Given the description of an element on the screen output the (x, y) to click on. 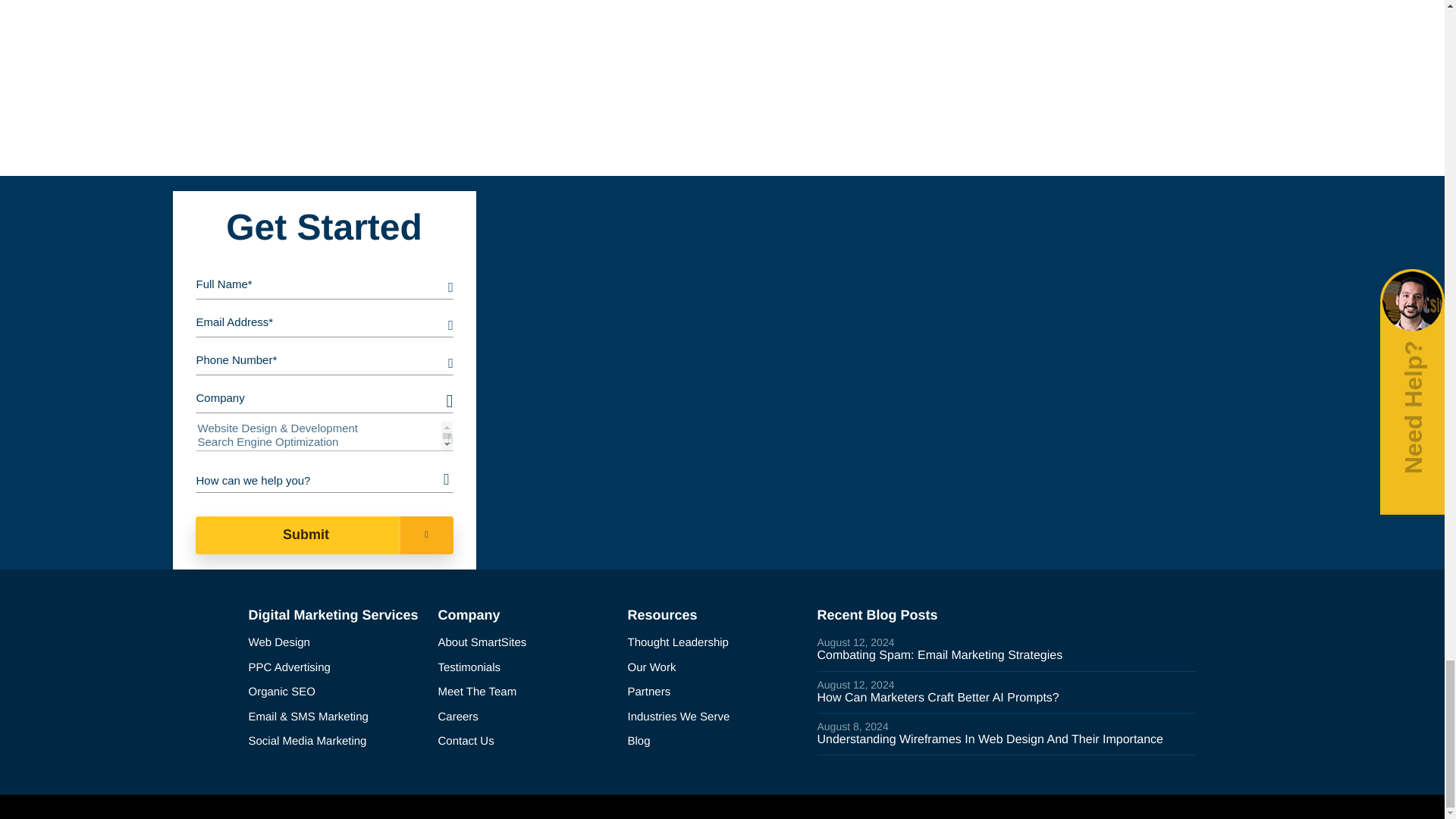
PPC Advertising (337, 668)
Industries We Serve (716, 717)
Web Design (337, 642)
Meet The Team (526, 692)
Careers (526, 717)
Recent Blog Posts (876, 615)
Blog (716, 742)
Organic SEO (337, 692)
Testimonials (526, 668)
Thought Leadership (716, 642)
